Given the description of an element on the screen output the (x, y) to click on. 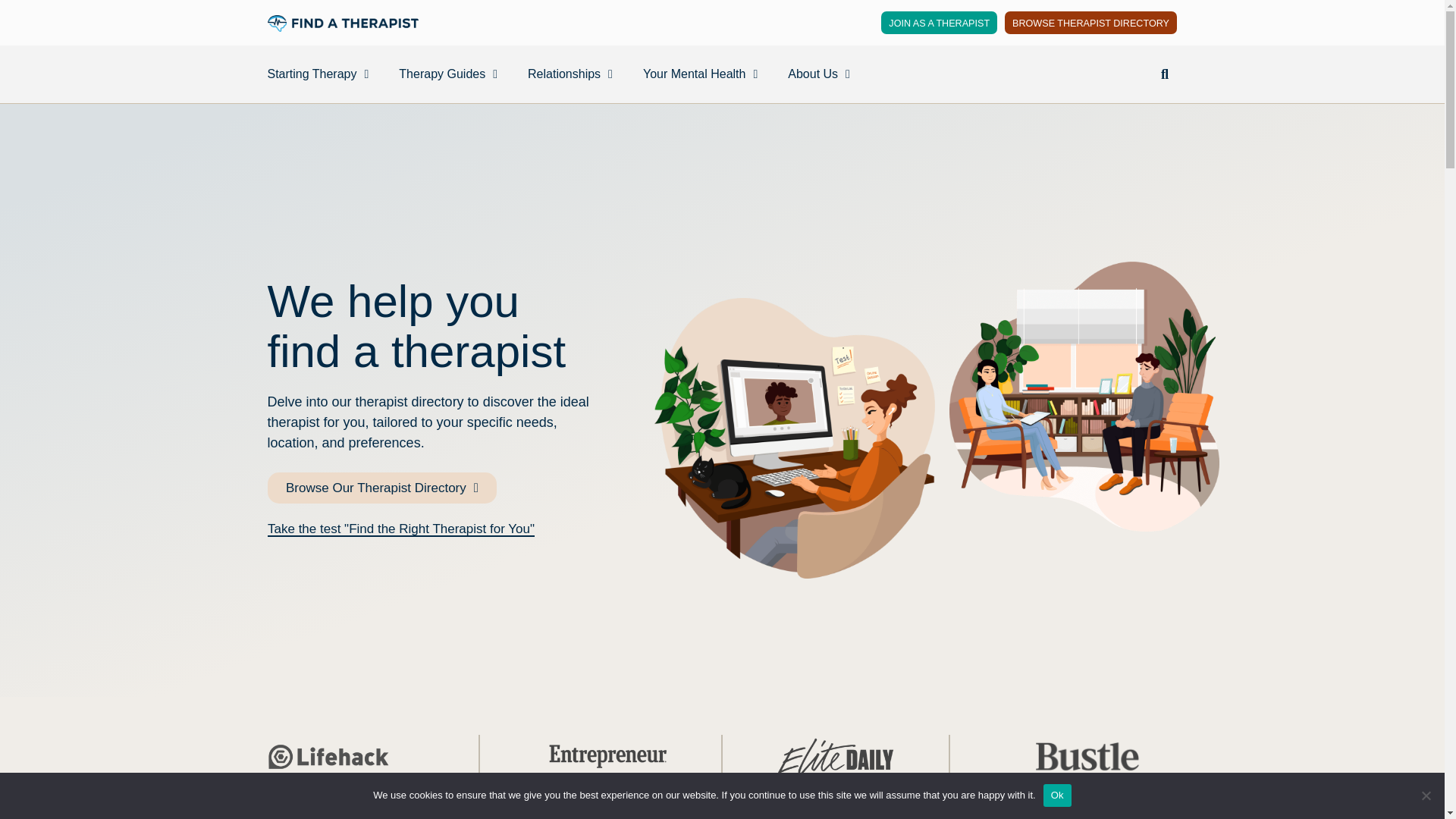
JOIN AS A THERAPIST (938, 22)
Relationships (569, 73)
About Us (818, 73)
Your Mental Health (700, 73)
Starting Therapy (317, 73)
BROWSE THERAPIST DIRECTORY (1090, 22)
Therapy Guides (447, 73)
No (1425, 795)
